Given the description of an element on the screen output the (x, y) to click on. 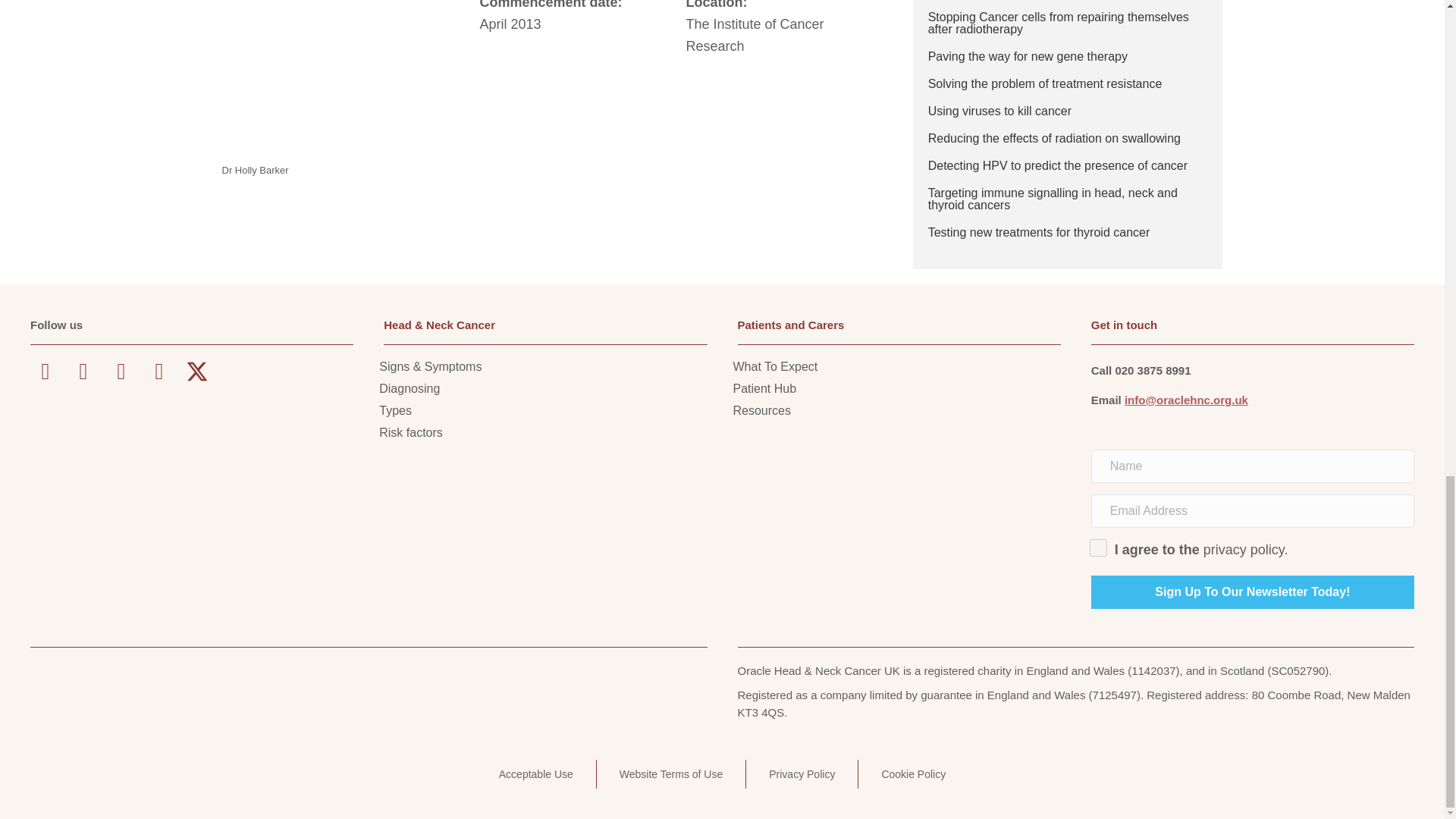
1 (1097, 547)
Paving the way for new gene therapy (1027, 56)
Dr-holly-barker (334, 78)
